Given the description of an element on the screen output the (x, y) to click on. 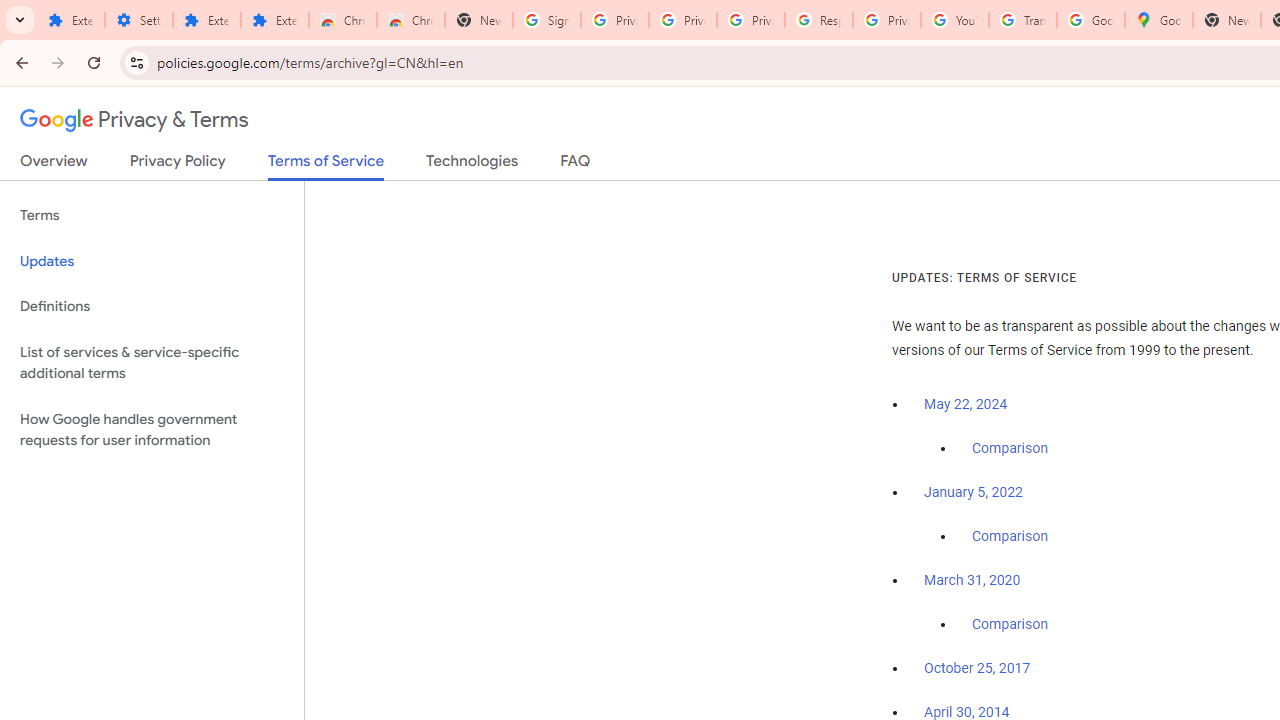
Chrome Web Store - Themes (411, 20)
Back (19, 62)
Extensions (274, 20)
Extensions (70, 20)
Extensions (206, 20)
Reload (93, 62)
Chrome Web Store (342, 20)
Search tabs (20, 20)
